Given the description of an element on the screen output the (x, y) to click on. 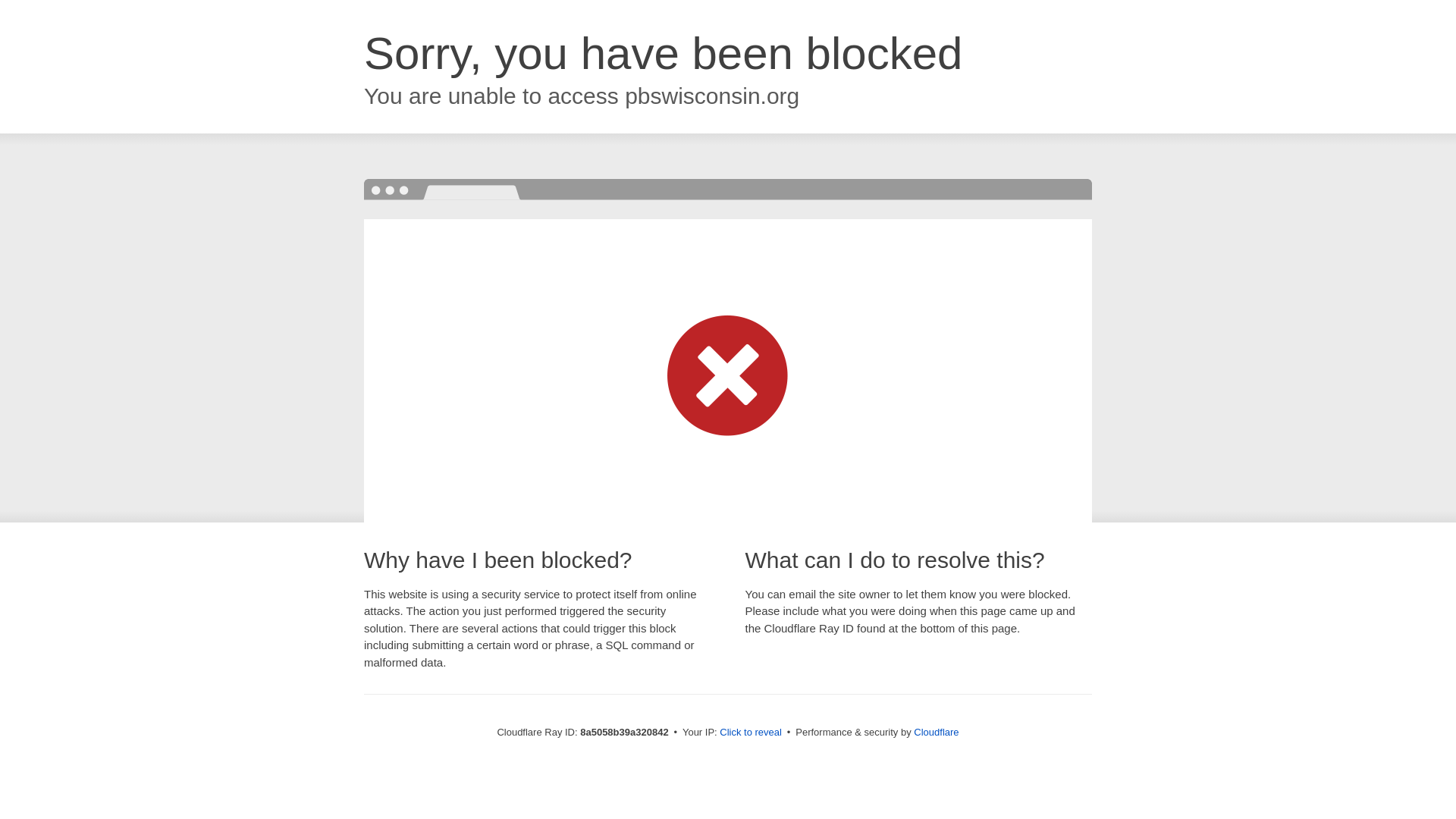
Click to reveal (750, 732)
Cloudflare (936, 731)
